Given the description of an element on the screen output the (x, y) to click on. 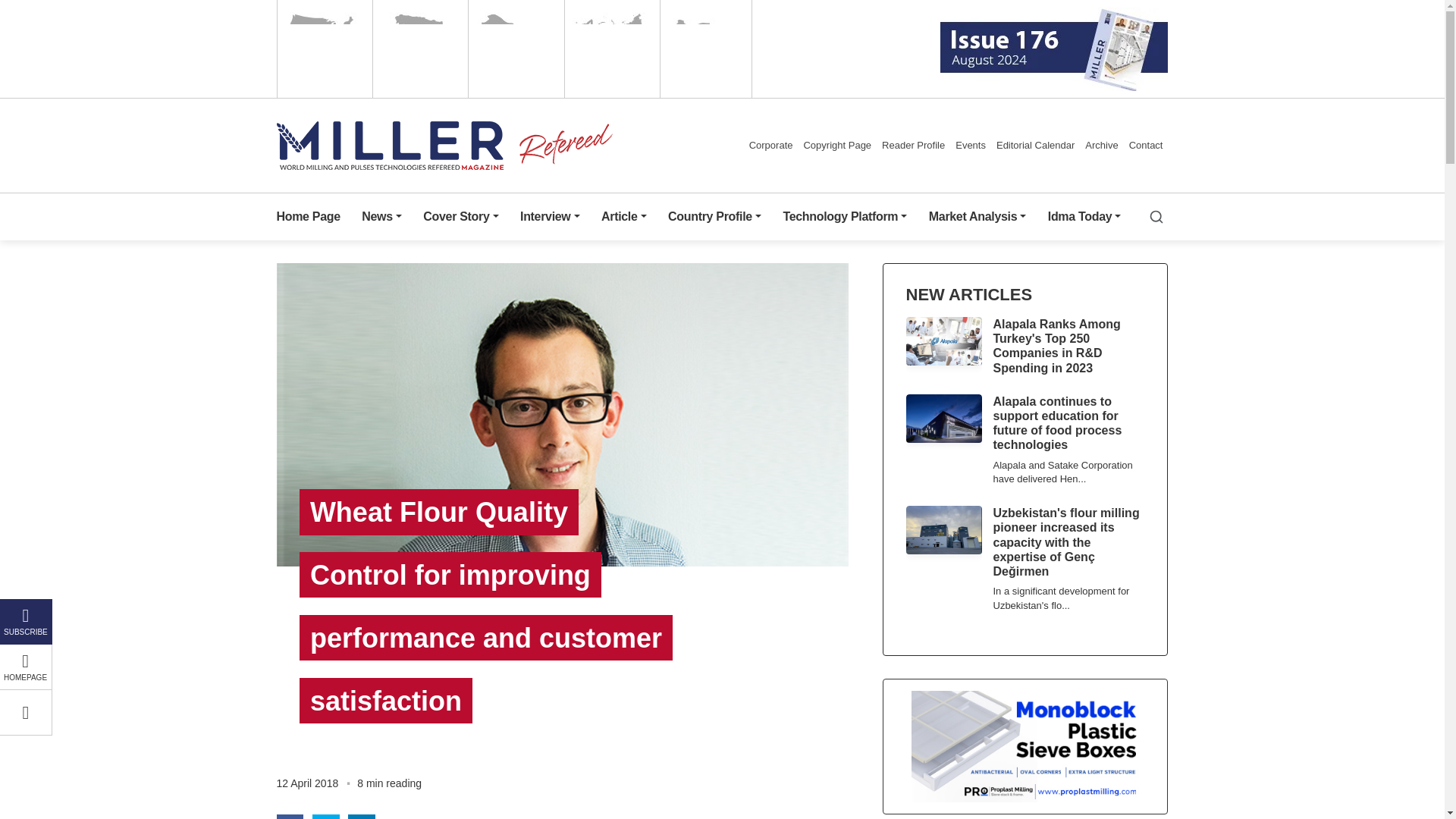
Editorial Calendar (1035, 144)
Copyright Page (836, 144)
Archive (1101, 144)
English (323, 48)
0 (26, 712)
Interview (549, 216)
Contact (1146, 144)
Copyright Page (836, 144)
Archive (1101, 144)
Arabic (514, 48)
